Given the description of an element on the screen output the (x, y) to click on. 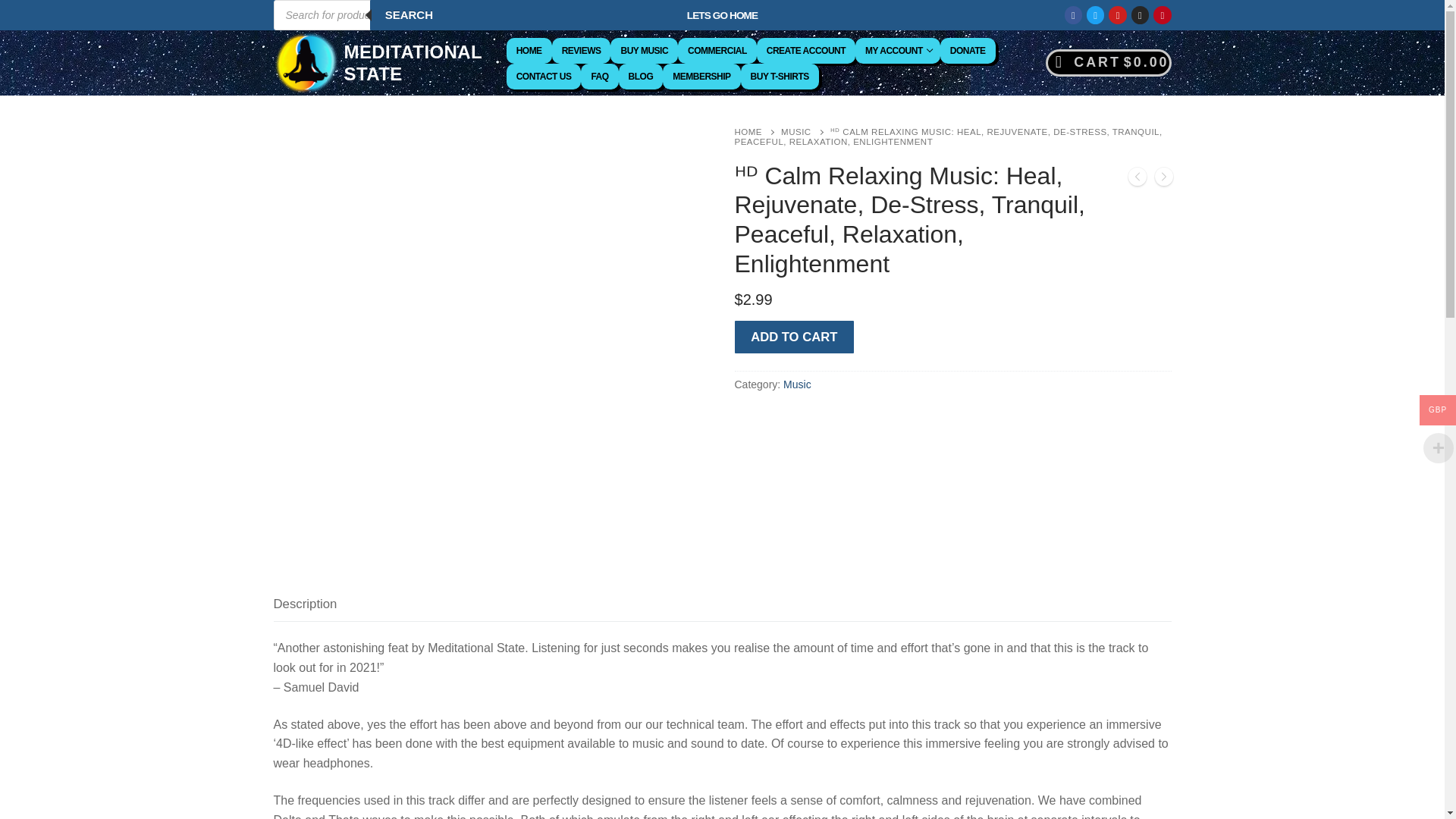
Instagram (1139, 15)
MEMBERSHIP (700, 76)
CREATE ACCOUNT (806, 50)
BUY T-SHIRTS (779, 76)
HOME (528, 50)
LETS GO HOME (722, 14)
CONTACT US (543, 76)
COMMERCIAL (717, 50)
Twitter (1095, 15)
Facebook (1073, 15)
